Given the description of an element on the screen output the (x, y) to click on. 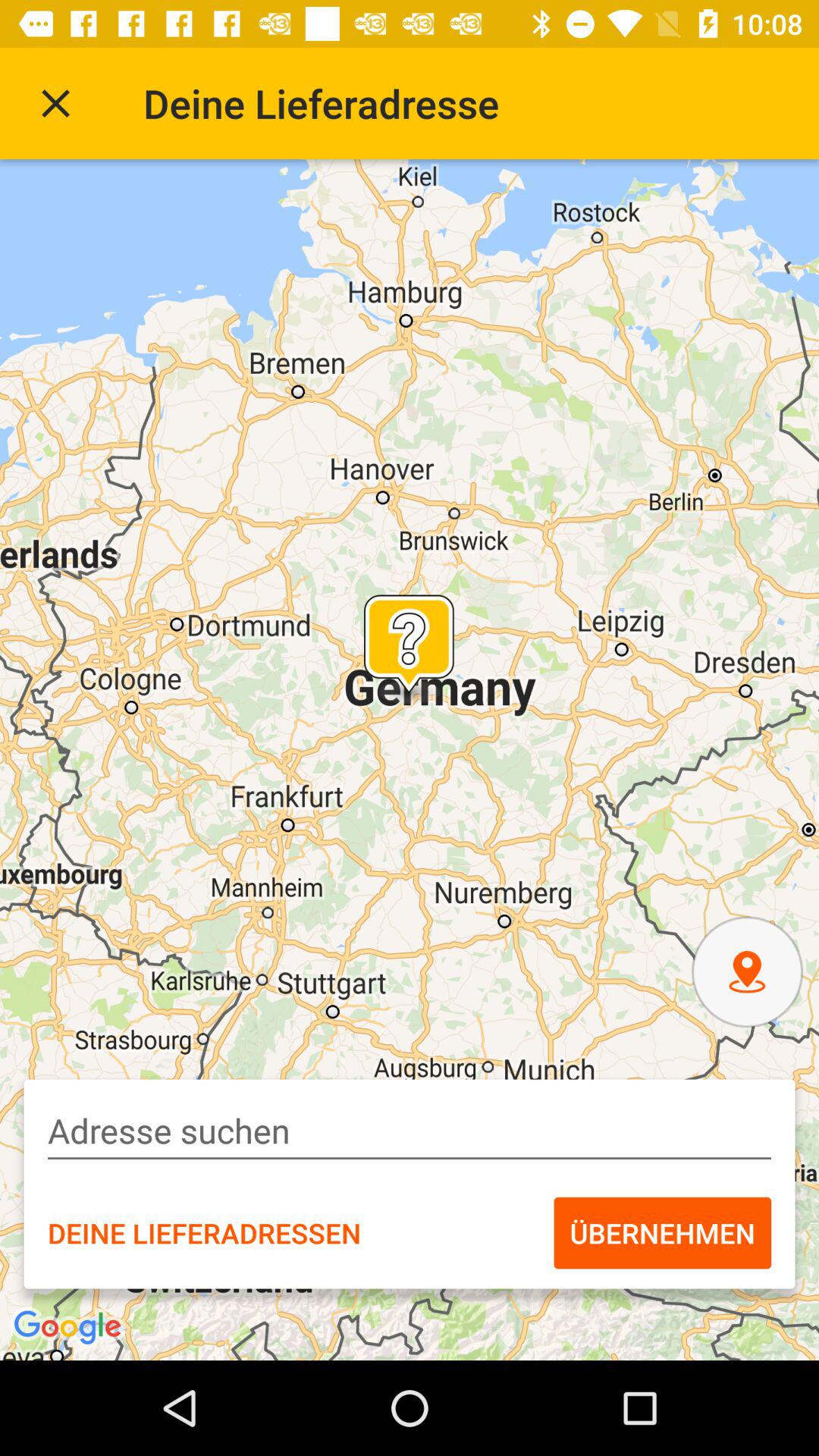
enter address (409, 1131)
